Given the description of an element on the screen output the (x, y) to click on. 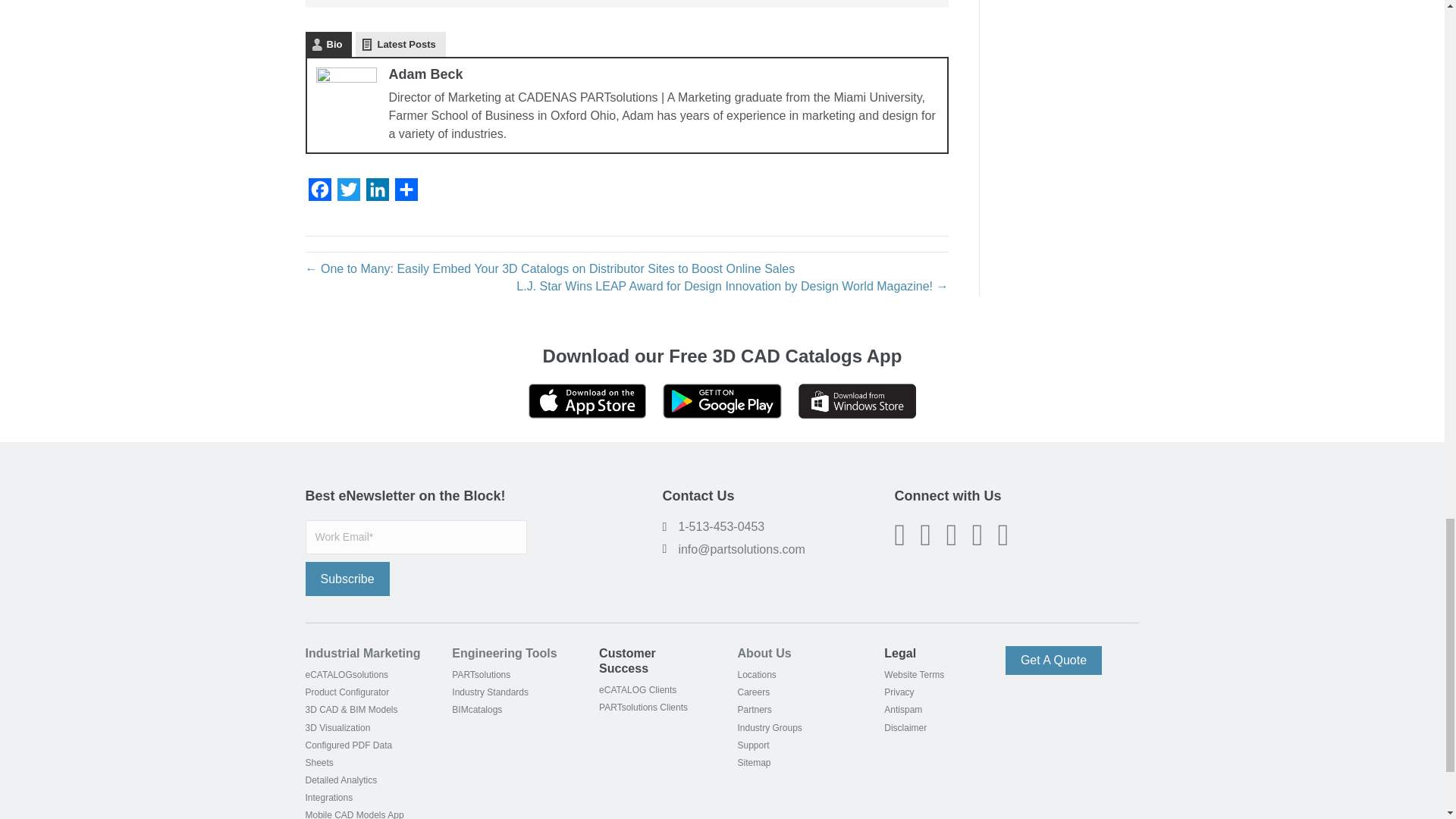
windows-store-badge (857, 401)
apple-app-store-badge (587, 401)
google-play-badge (721, 401)
About Us (763, 653)
Twitter (347, 193)
Subscribe (346, 578)
LinkedIn (376, 193)
Facebook (318, 193)
Industrial Marketing (362, 653)
Engineering Tools (503, 653)
